Given the description of an element on the screen output the (x, y) to click on. 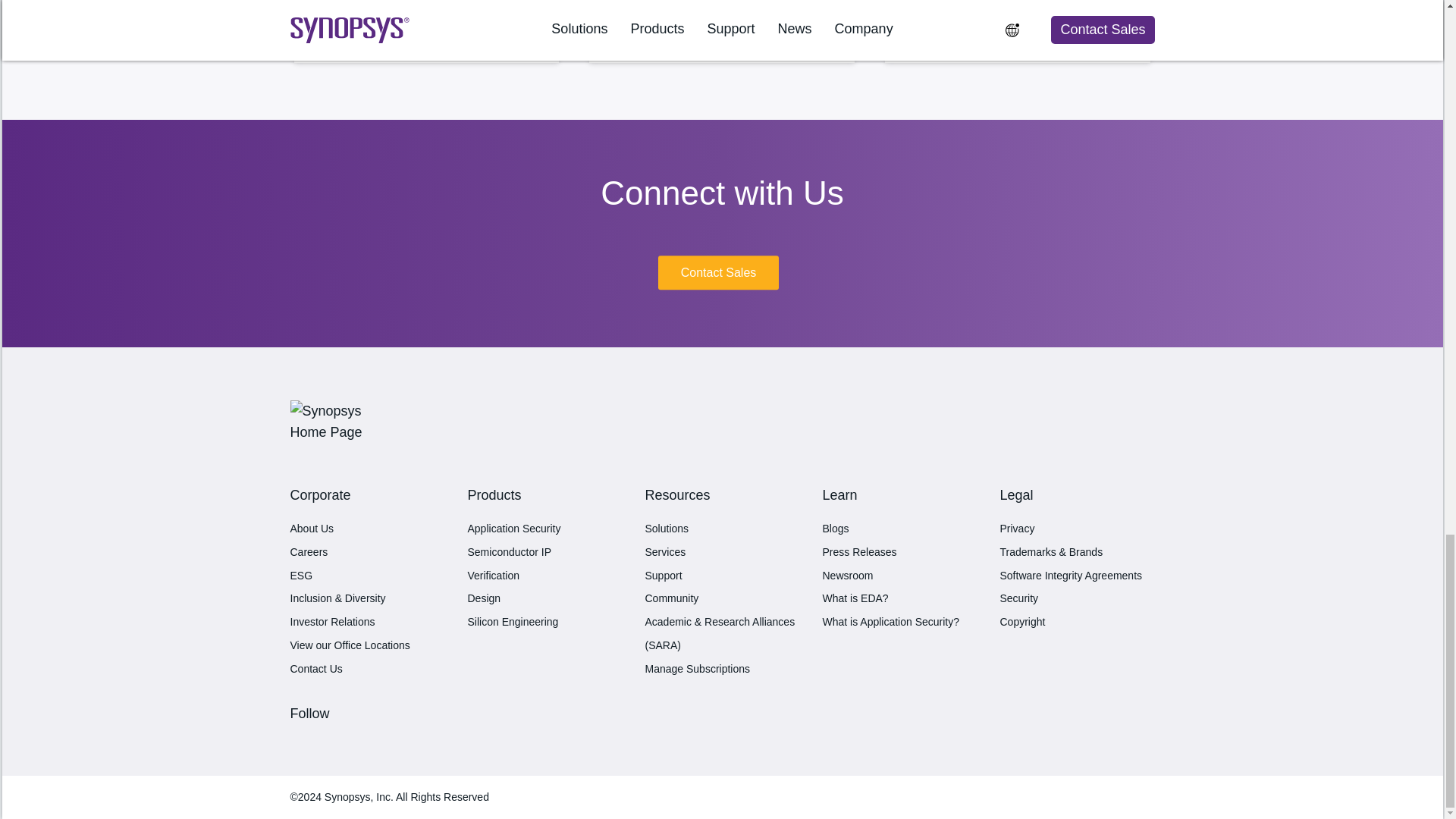
Linkedin (301, 739)
